Given the description of an element on the screen output the (x, y) to click on. 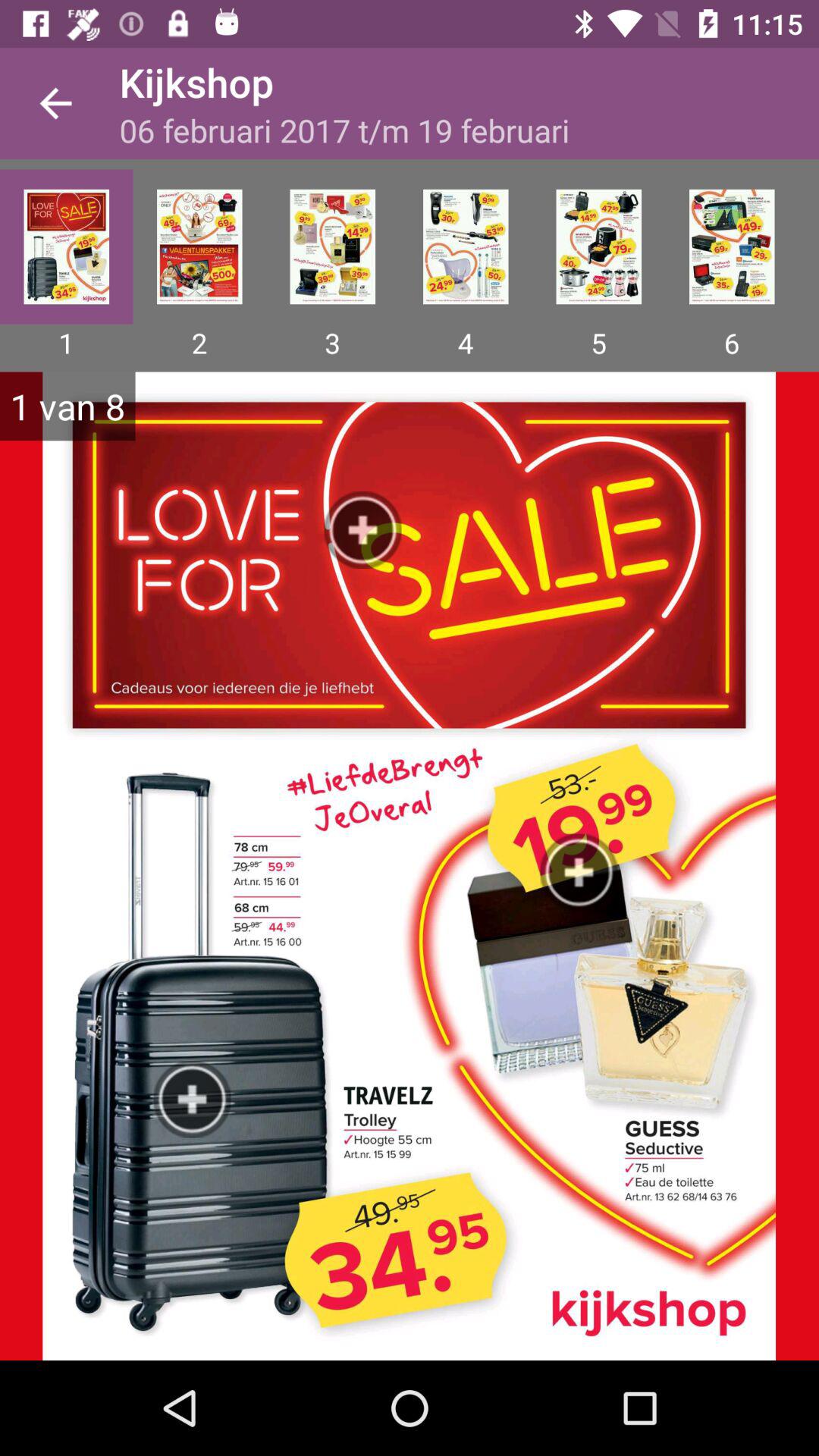
lo mejor para el mejor (199, 246)
